Given the description of an element on the screen output the (x, y) to click on. 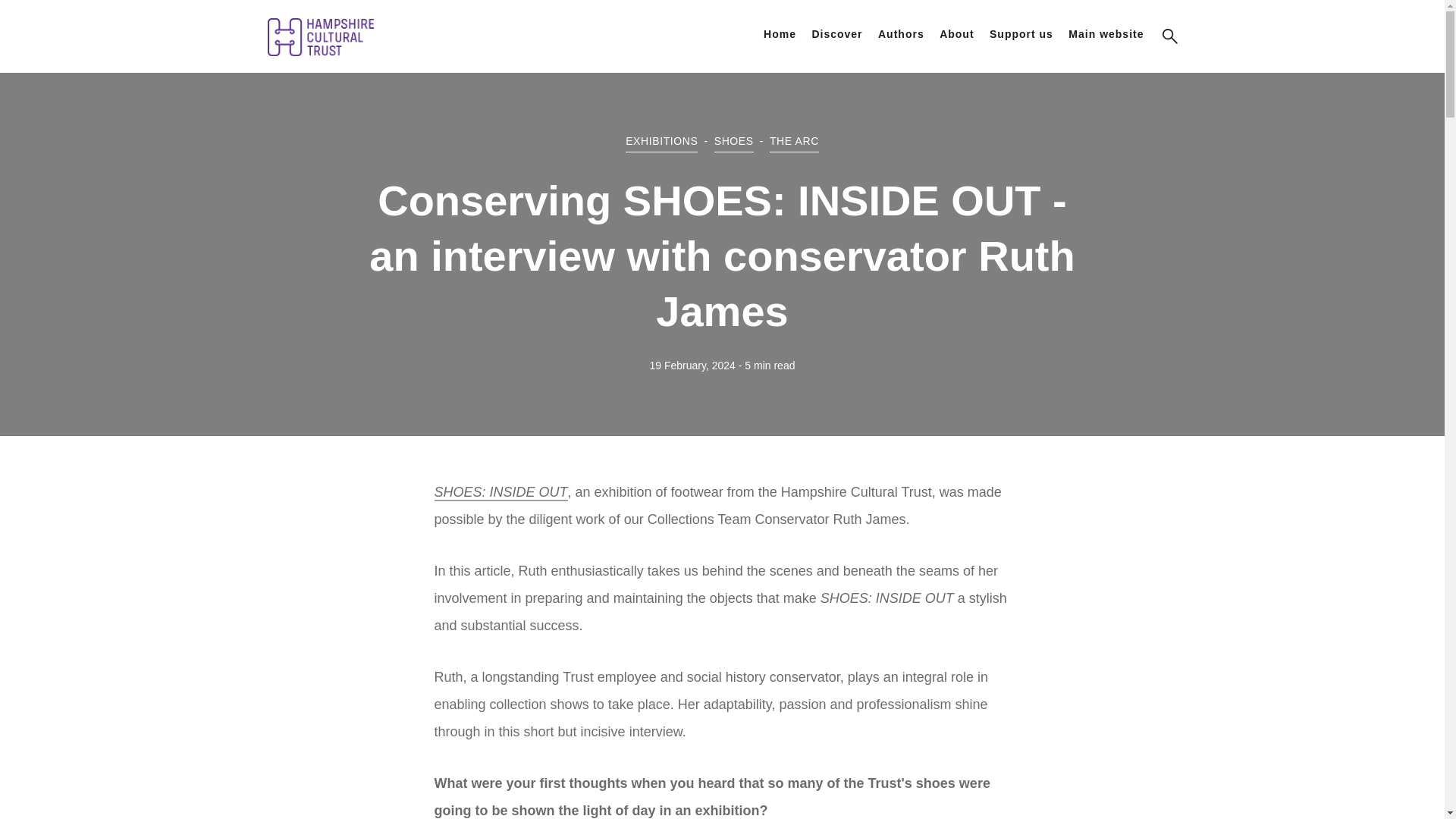
Discover (835, 33)
Main website (1105, 33)
THE ARC (794, 141)
SHOES: INSIDE OUT (500, 492)
Authors (900, 33)
EXHIBITIONS (661, 141)
Support us (1021, 33)
Home (779, 33)
SHOES (734, 141)
About (956, 33)
